Given the description of an element on the screen output the (x, y) to click on. 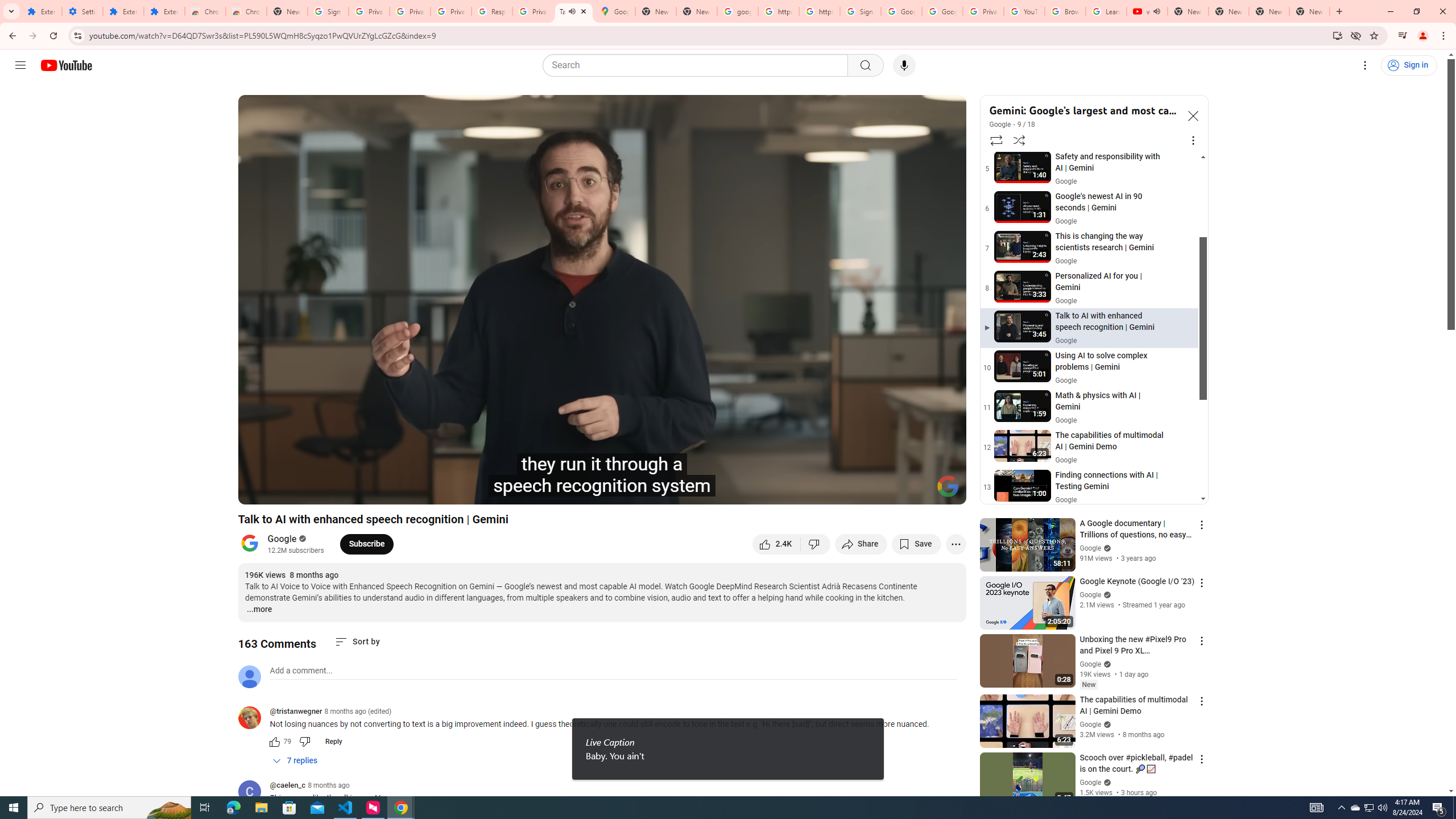
AutomationID: simplebox-placeholder (301, 670)
Next (SHIFT+n) (310, 490)
Sign in - Google Accounts (327, 11)
8 months ago (328, 785)
https://scholar.google.com/ (818, 11)
Default profile photo (248, 676)
Browse Chrome as a guest - Computer - Google Chrome Help (1064, 11)
